Given the description of an element on the screen output the (x, y) to click on. 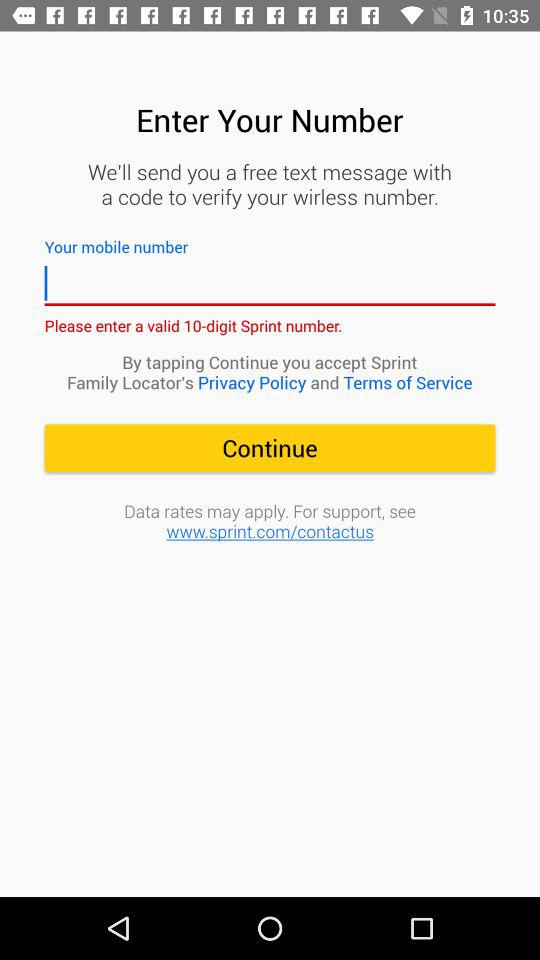
enter mobile number (269, 283)
